Given the description of an element on the screen output the (x, y) to click on. 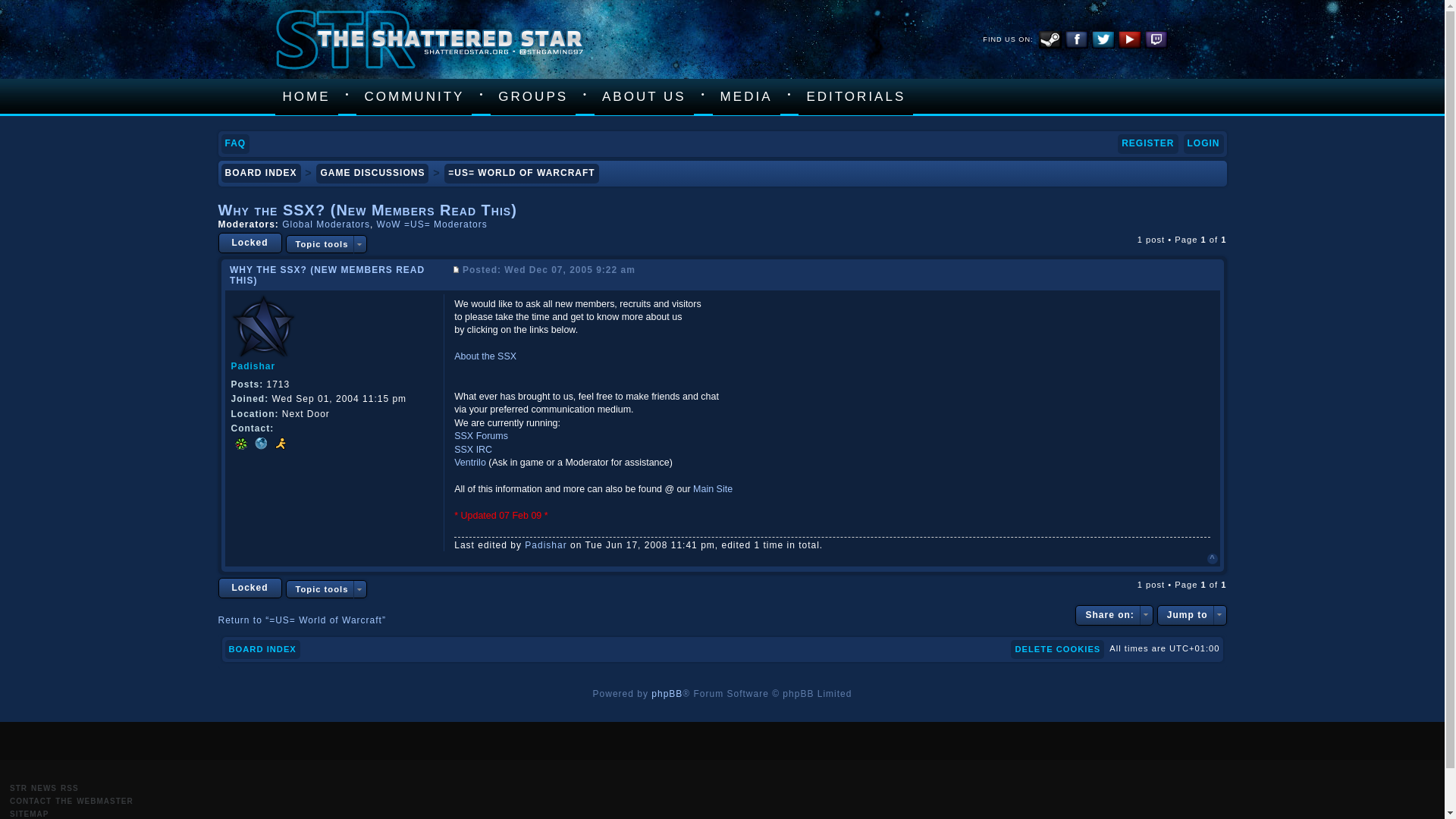
Game Discussions (371, 173)
Post (455, 268)
HOME (306, 96)
STR Twitter Page (1102, 39)
ICQ (240, 443)
AOL (279, 443)
Frequently Asked Questions (235, 143)
Topic tools (326, 244)
STR Youtube Channel (1128, 39)
Board index (261, 173)
Website (259, 443)
Topic tools (326, 588)
Share on: (1114, 615)
